Given the description of an element on the screen output the (x, y) to click on. 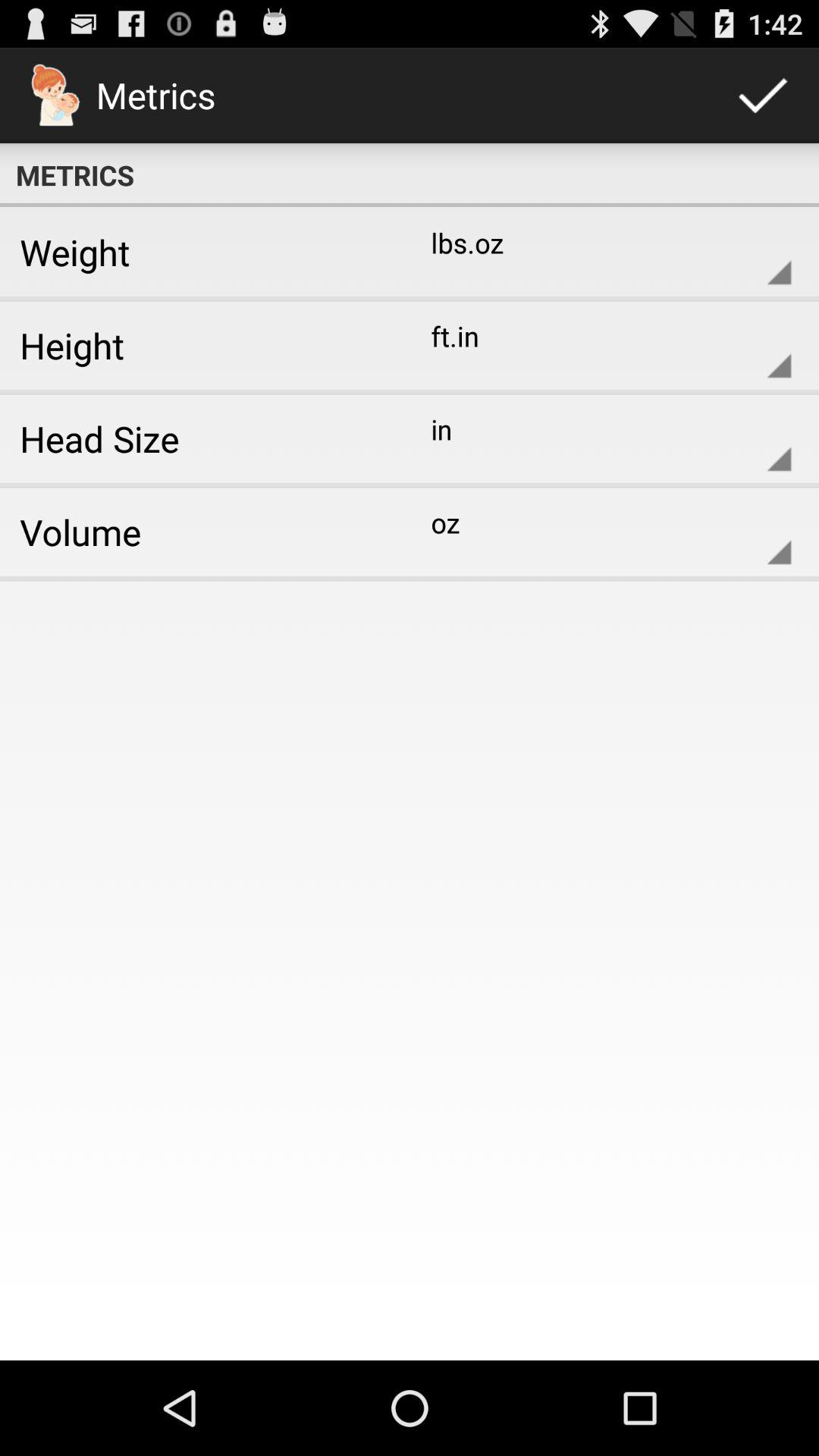
flip to the height item (199, 345)
